Given the description of an element on the screen output the (x, y) to click on. 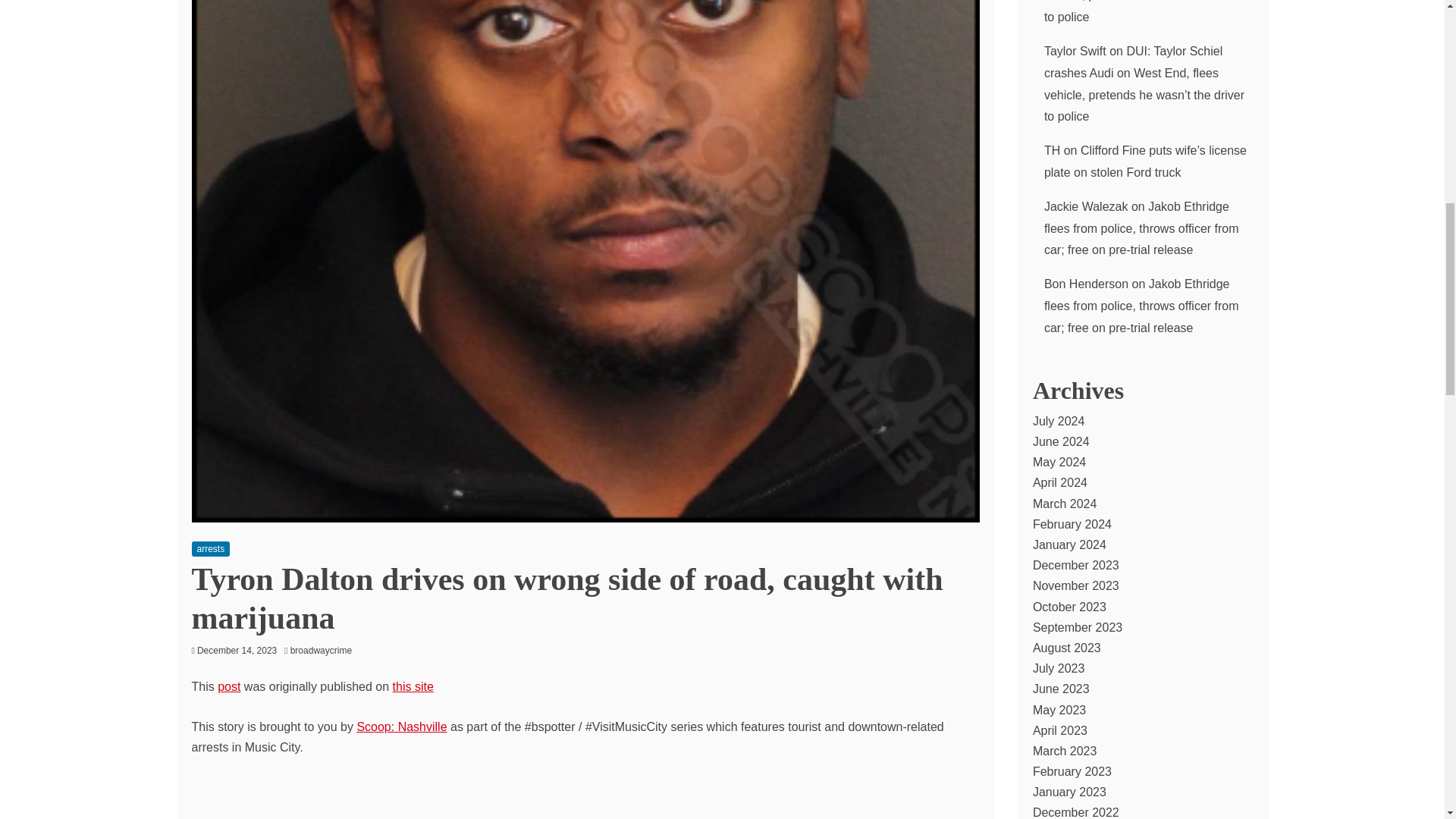
Scoop: Nashville (401, 726)
arrests (210, 548)
this site (413, 686)
post (228, 686)
broadwaycrime (324, 650)
December 14, 2023 (236, 650)
